Given the description of an element on the screen output the (x, y) to click on. 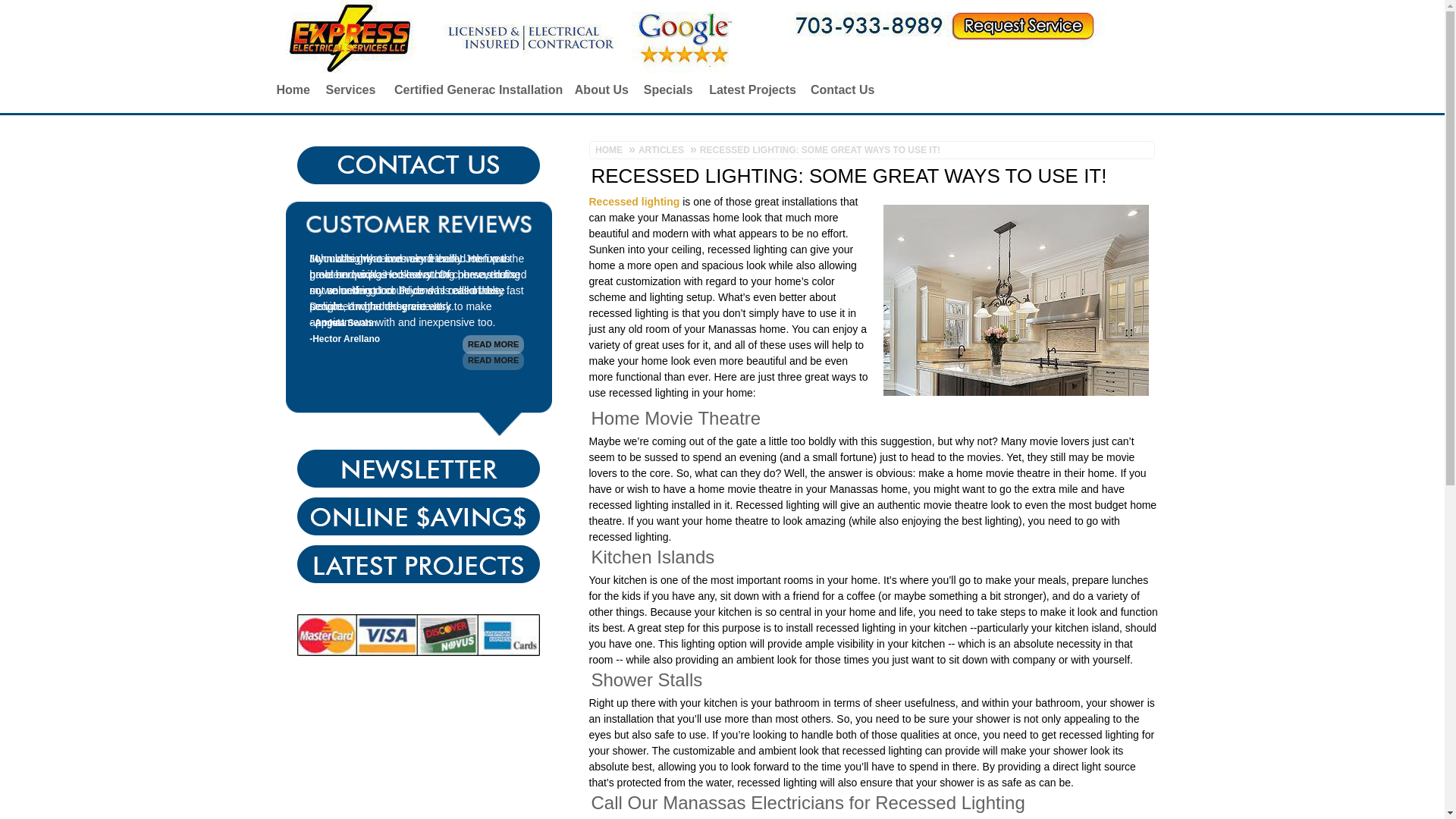
Services (349, 90)
Home (290, 90)
